Given the description of an element on the screen output the (x, y) to click on. 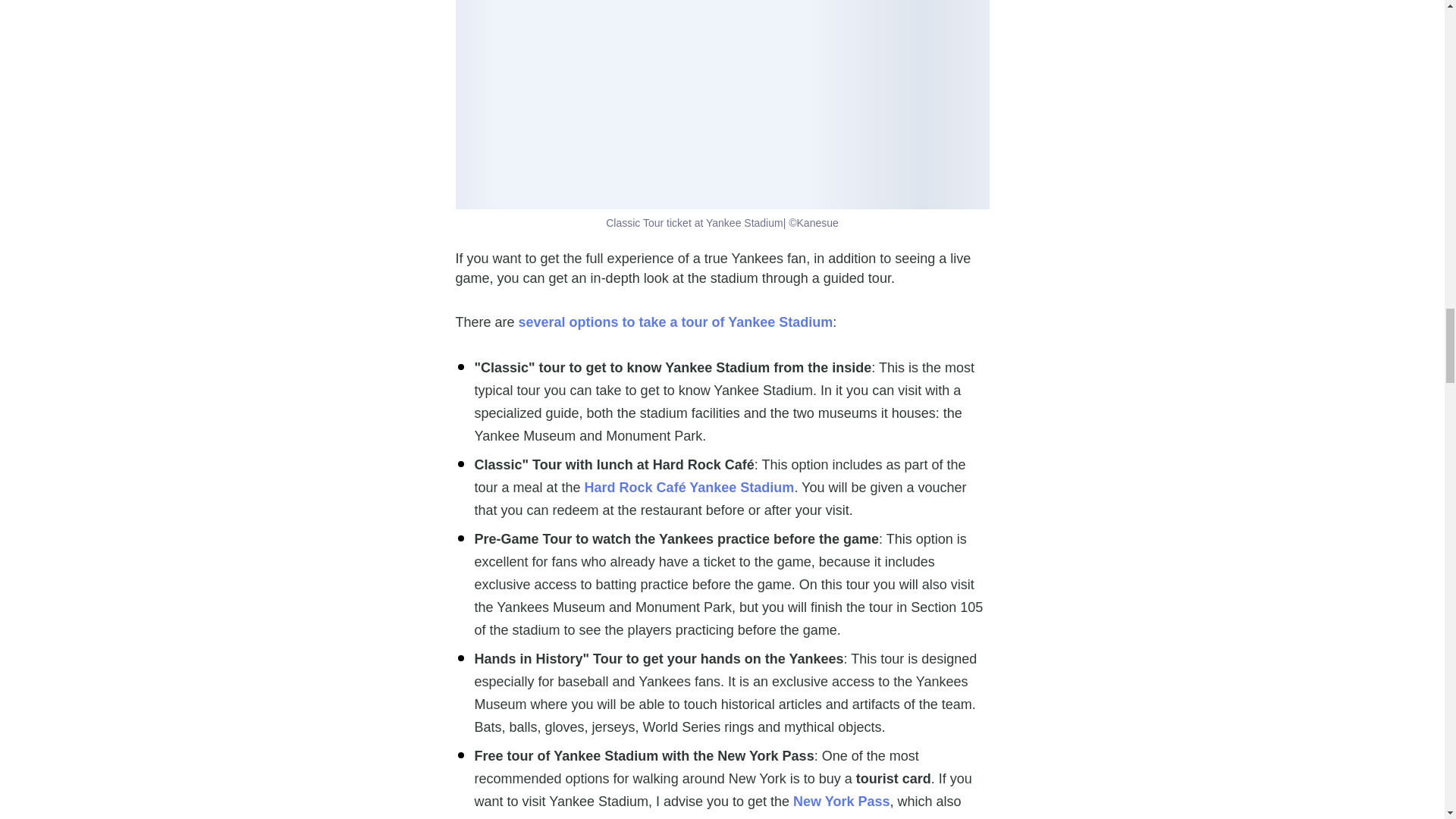
several options to take a tour of Yankee Stadium (675, 322)
New York Pass (841, 801)
